Given the description of an element on the screen output the (x, y) to click on. 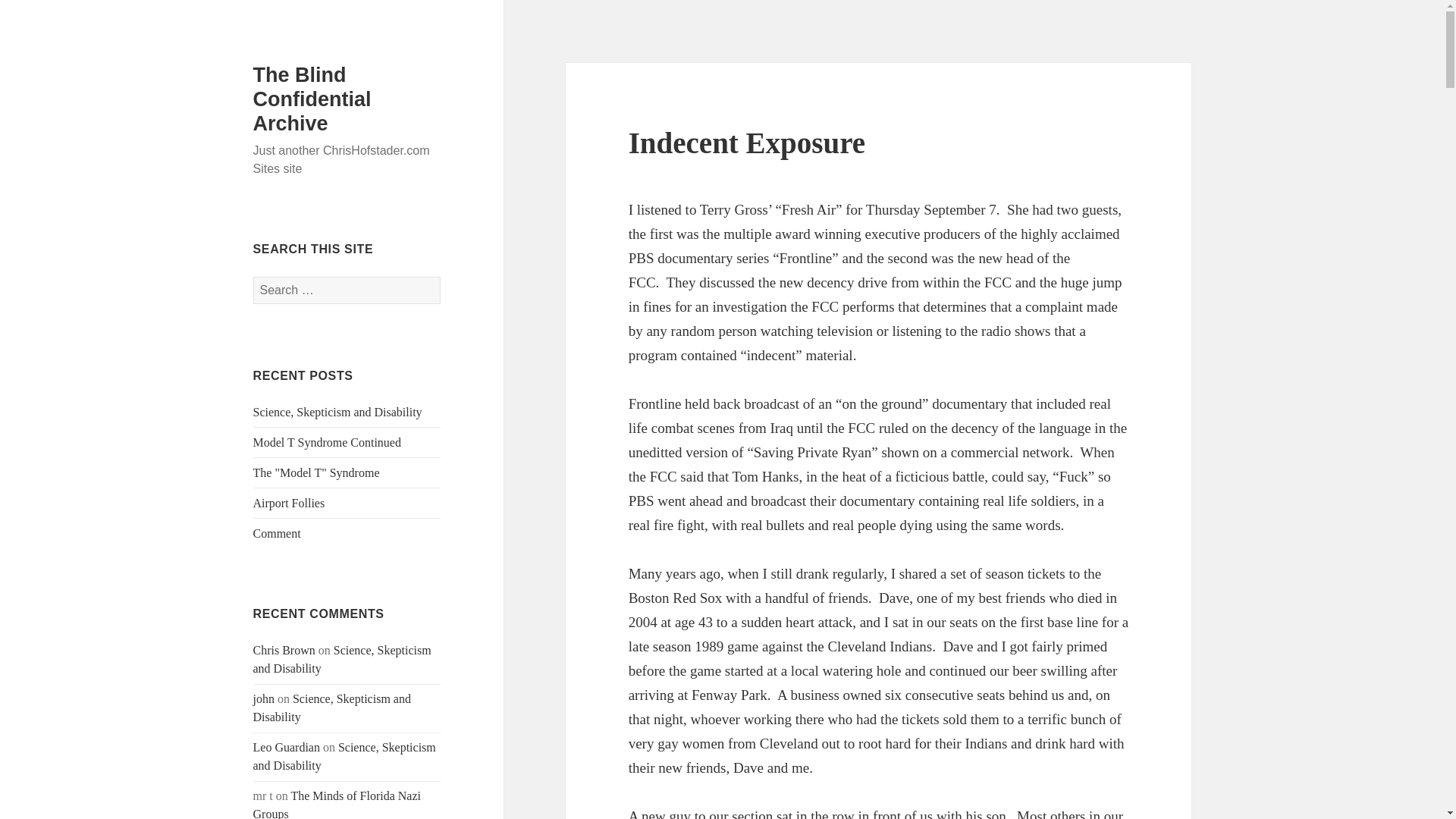
Comment (277, 533)
Science, Skepticism and Disability (331, 707)
Leo Guardian (286, 747)
The Blind Confidential Archive (312, 99)
Chris Brown (284, 649)
Science, Skepticism and Disability (337, 411)
john (264, 698)
Model T Syndrome Continued (327, 441)
Science, Skepticism and Disability (344, 756)
The Minds of Florida Nazi Groups (336, 804)
Airport Follies (288, 502)
The "Model T" Syndrome (316, 472)
